Given the description of an element on the screen output the (x, y) to click on. 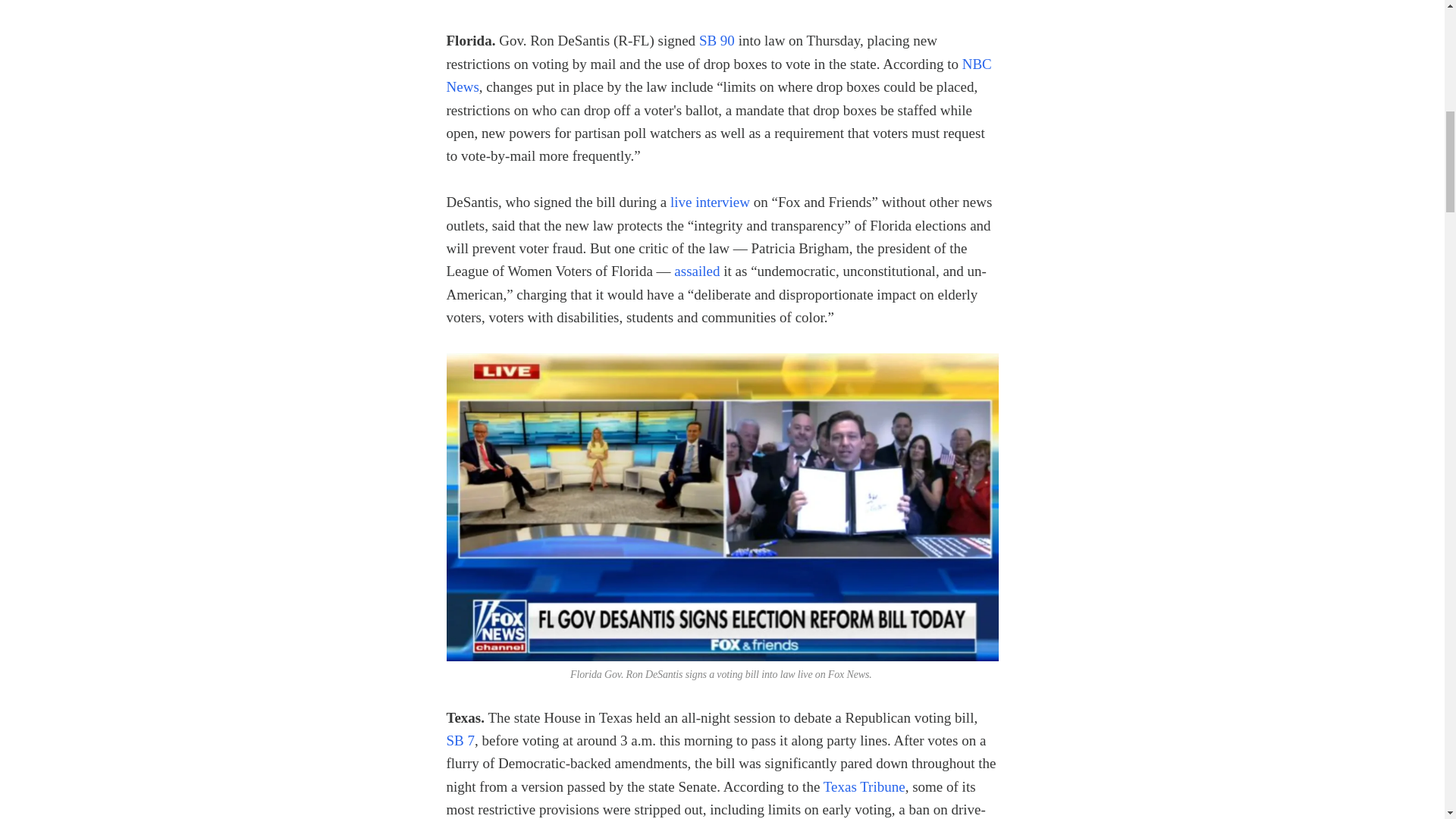
NBC News (718, 75)
live interview (709, 201)
SB 90 (716, 40)
Texas Tribune (864, 786)
SB 7 (459, 740)
assailed (696, 270)
